Given the description of an element on the screen output the (x, y) to click on. 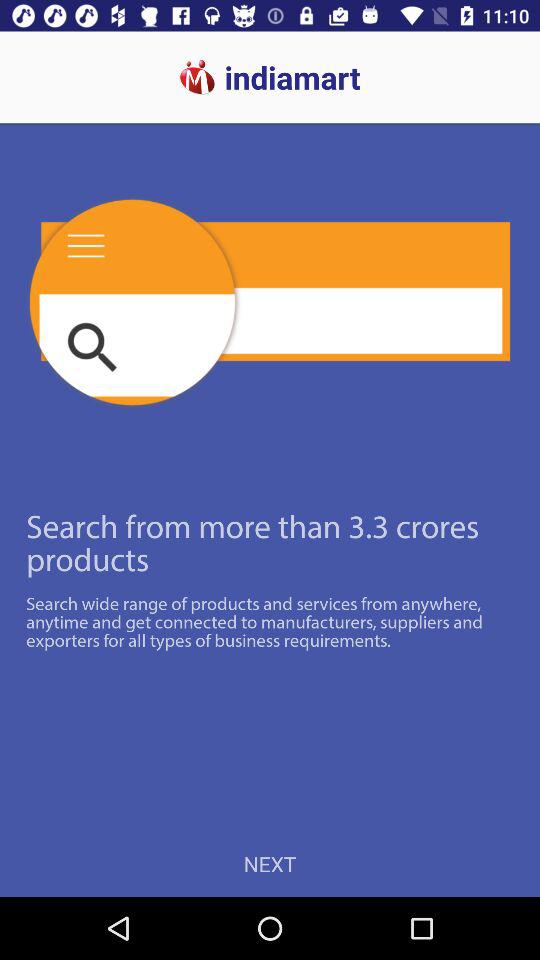
turn on next icon (270, 863)
